Given the description of an element on the screen output the (x, y) to click on. 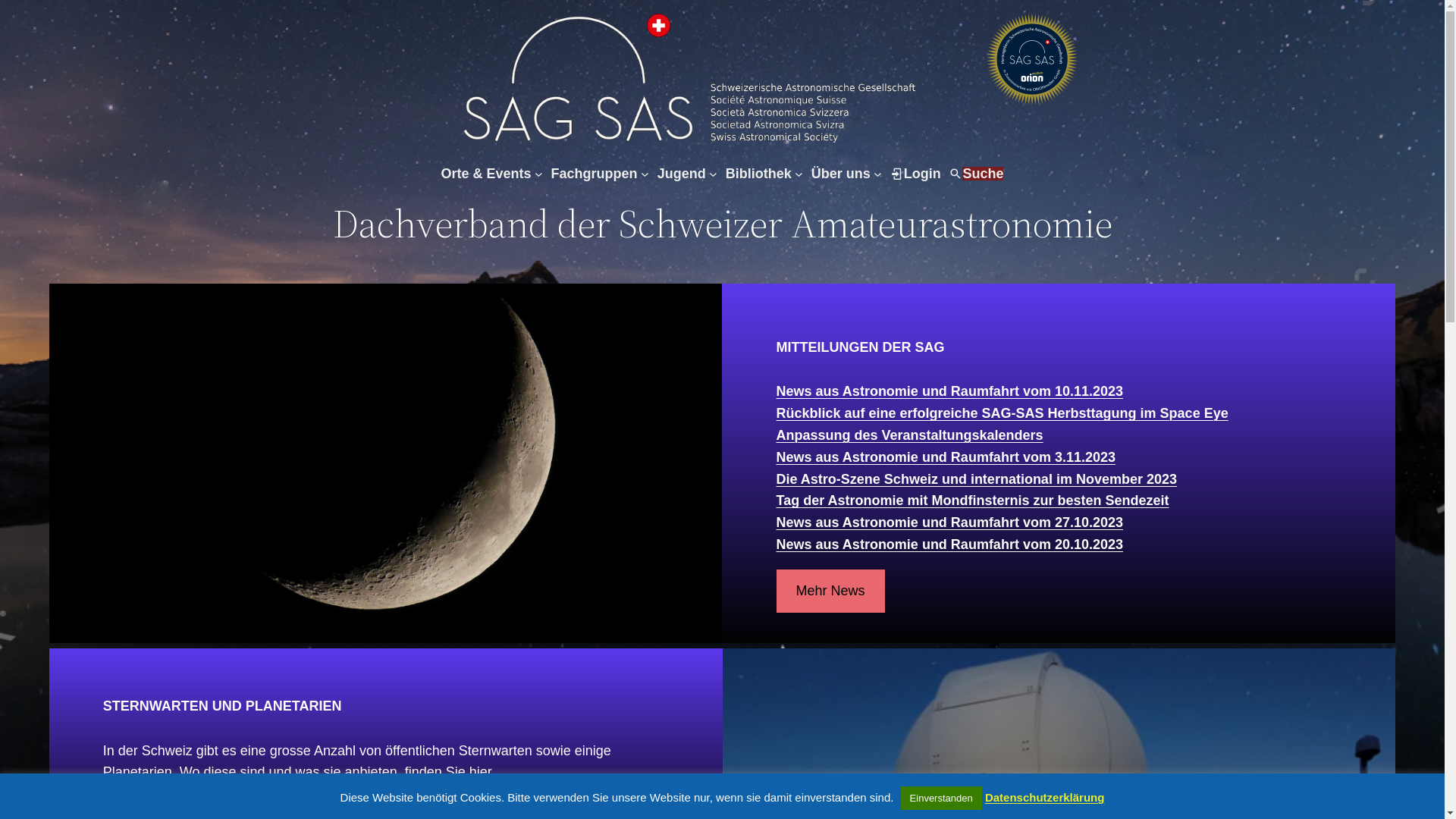
Jugend Element type: text (681, 173)
Login Element type: text (922, 173)
Mehr News Element type: text (830, 590)
Bibliothek Element type: text (758, 173)
News aus Astronomie und Raumfahrt vom 10.11.2023 Element type: text (949, 390)
News aus Astronomie und Raumfahrt vom 27.10.2023 Element type: text (949, 522)
Orte & Events Element type: text (486, 173)
Suche Element type: text (982, 173)
Einverstanden Element type: text (941, 797)
News aus Astronomie und Raumfahrt vom 3.11.2023 Element type: text (945, 456)
News aus Astronomie und Raumfahrt vom 20.10.2023 Element type: text (949, 544)
Fachgruppen Element type: text (594, 173)
Tag der Astronomie mit Mondfinsternis zur besten Sendezeit Element type: text (972, 500)
Anpassung des Veranstaltungskalenders Element type: text (909, 434)
Die Astro-Szene Schweiz und international im November 2023 Element type: text (976, 478)
